Given the description of an element on the screen output the (x, y) to click on. 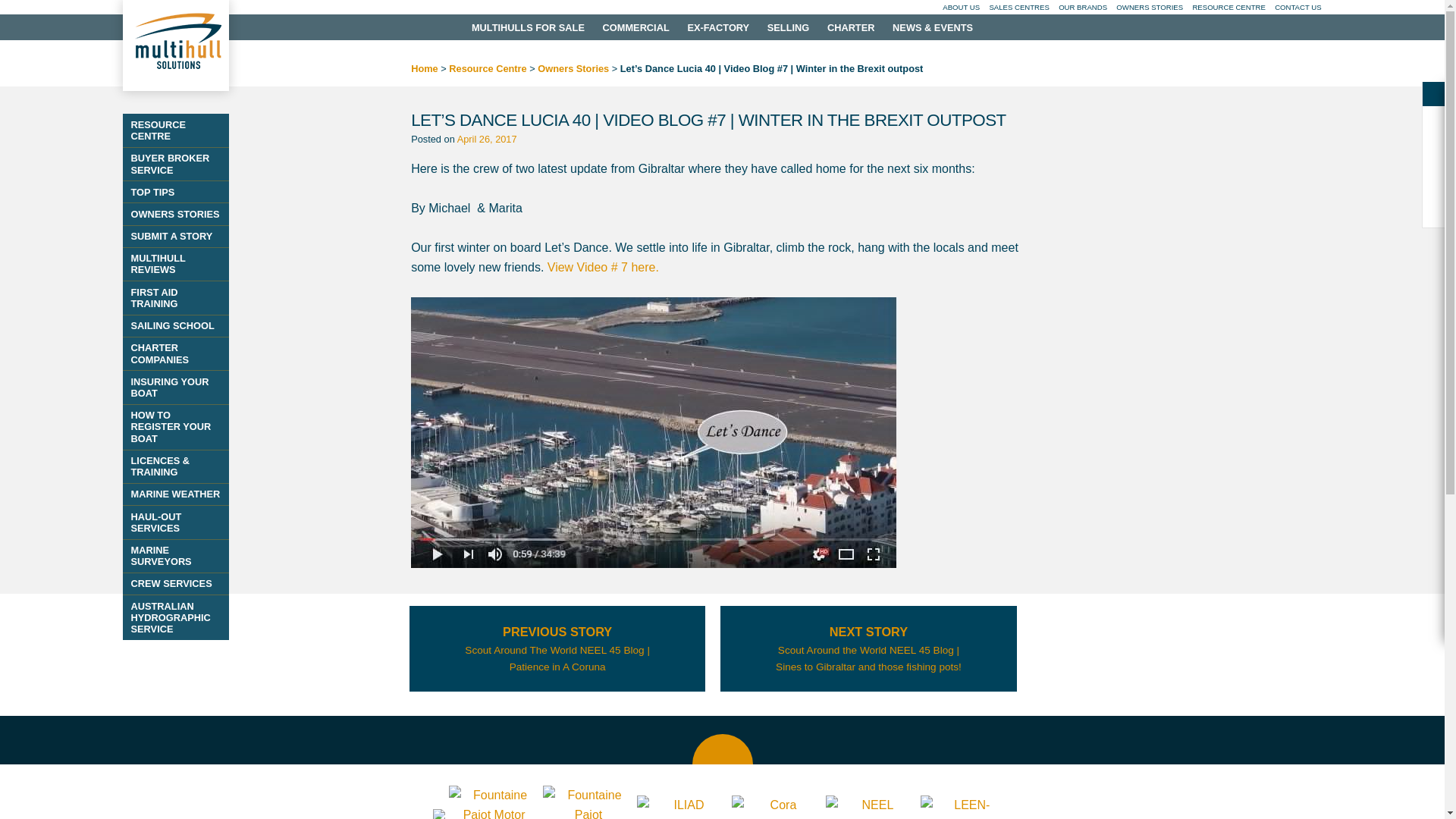
RESOURCE CENTRE (1228, 7)
ABOUT US (960, 7)
OUR BRANDS (1082, 7)
OWNERS STORIES (1149, 7)
Multihull Solutions (175, 45)
SALES CENTRES (1018, 7)
